Given the description of an element on the screen output the (x, y) to click on. 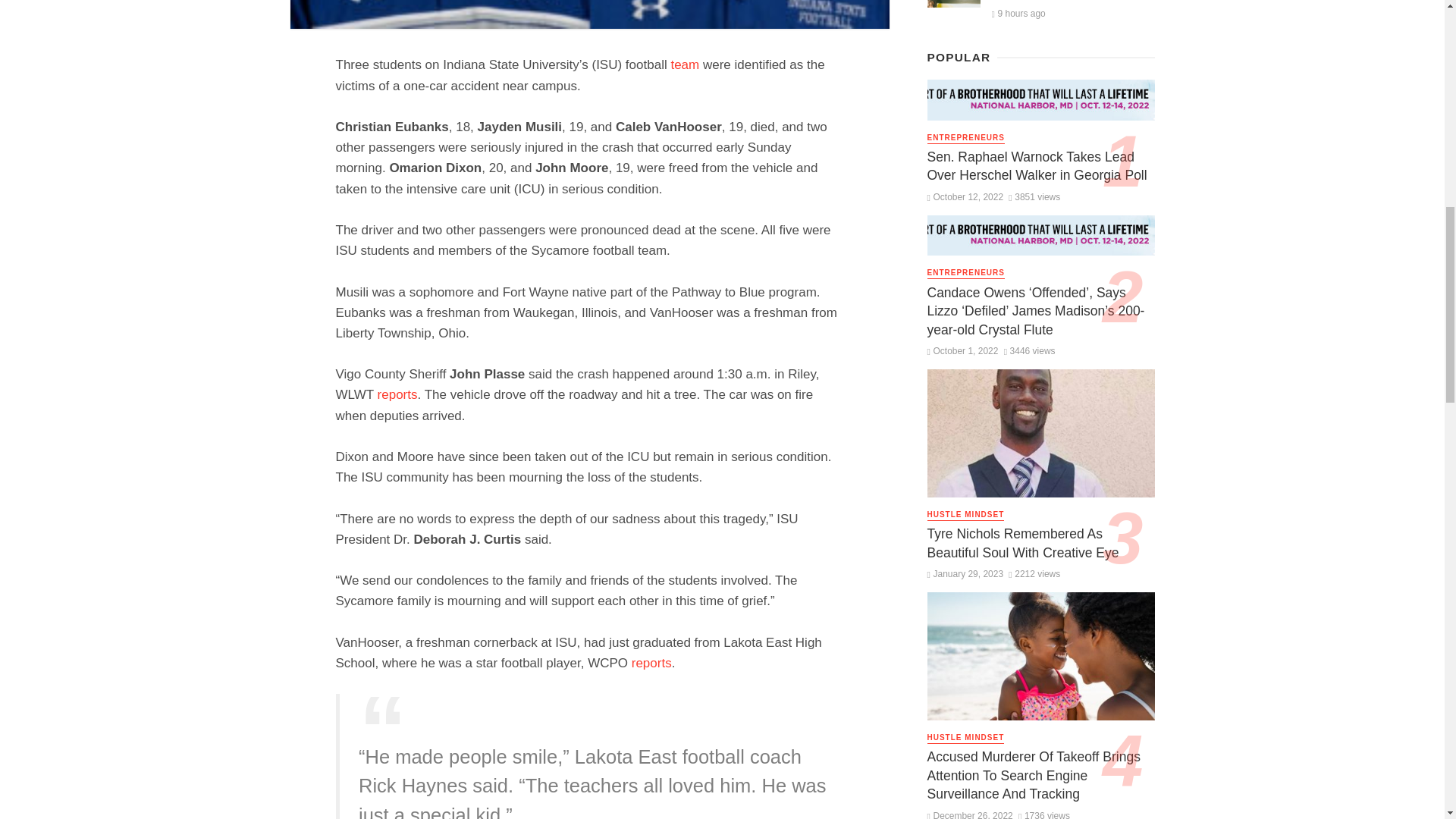
team (683, 64)
reports (397, 394)
reports (651, 663)
